Given the description of an element on the screen output the (x, y) to click on. 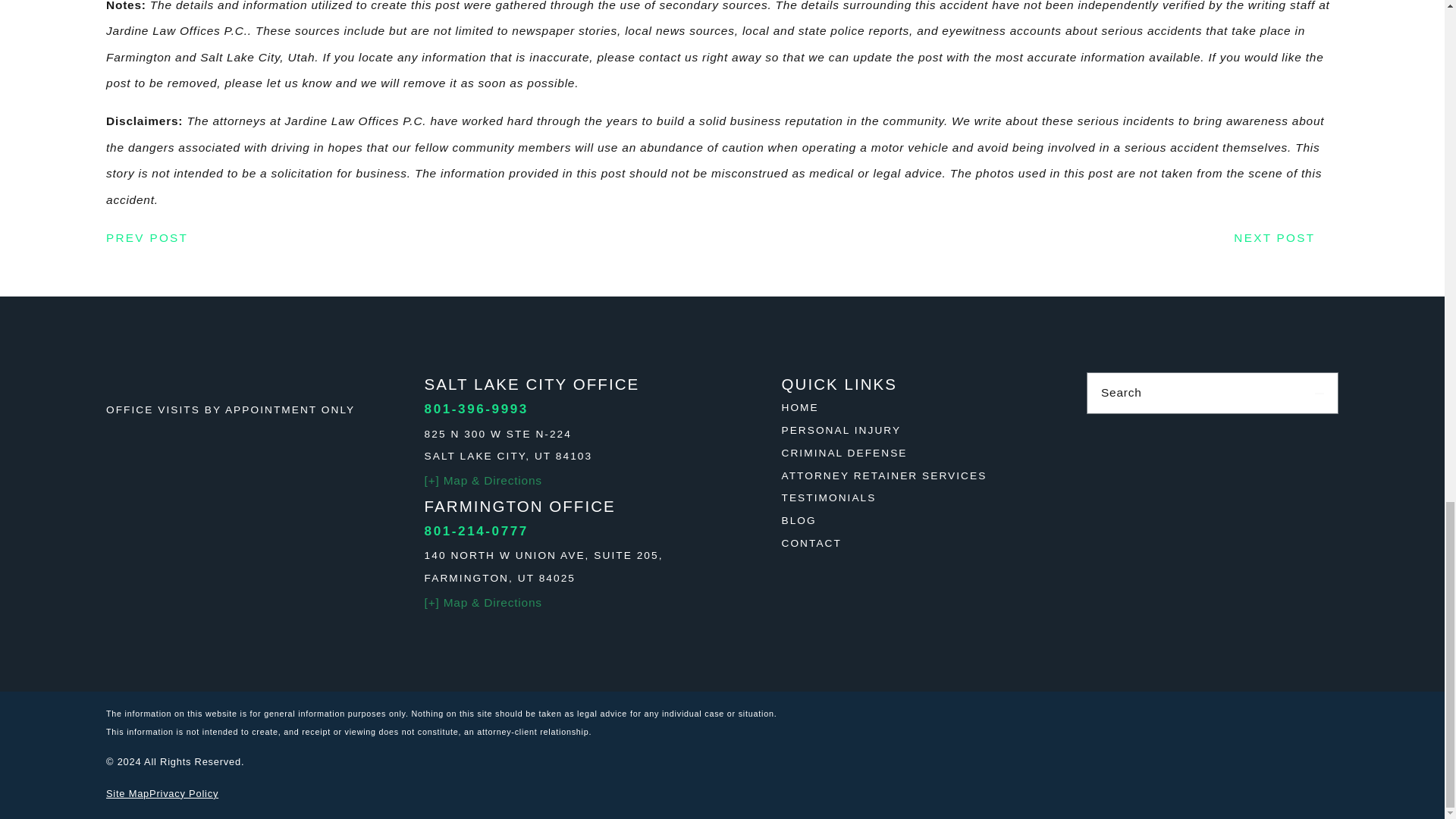
Google Business Profile (1102, 429)
LinkedIn (1212, 429)
Yelp (1268, 429)
Facebook (1157, 429)
Twitter (1323, 429)
